Given the description of an element on the screen output the (x, y) to click on. 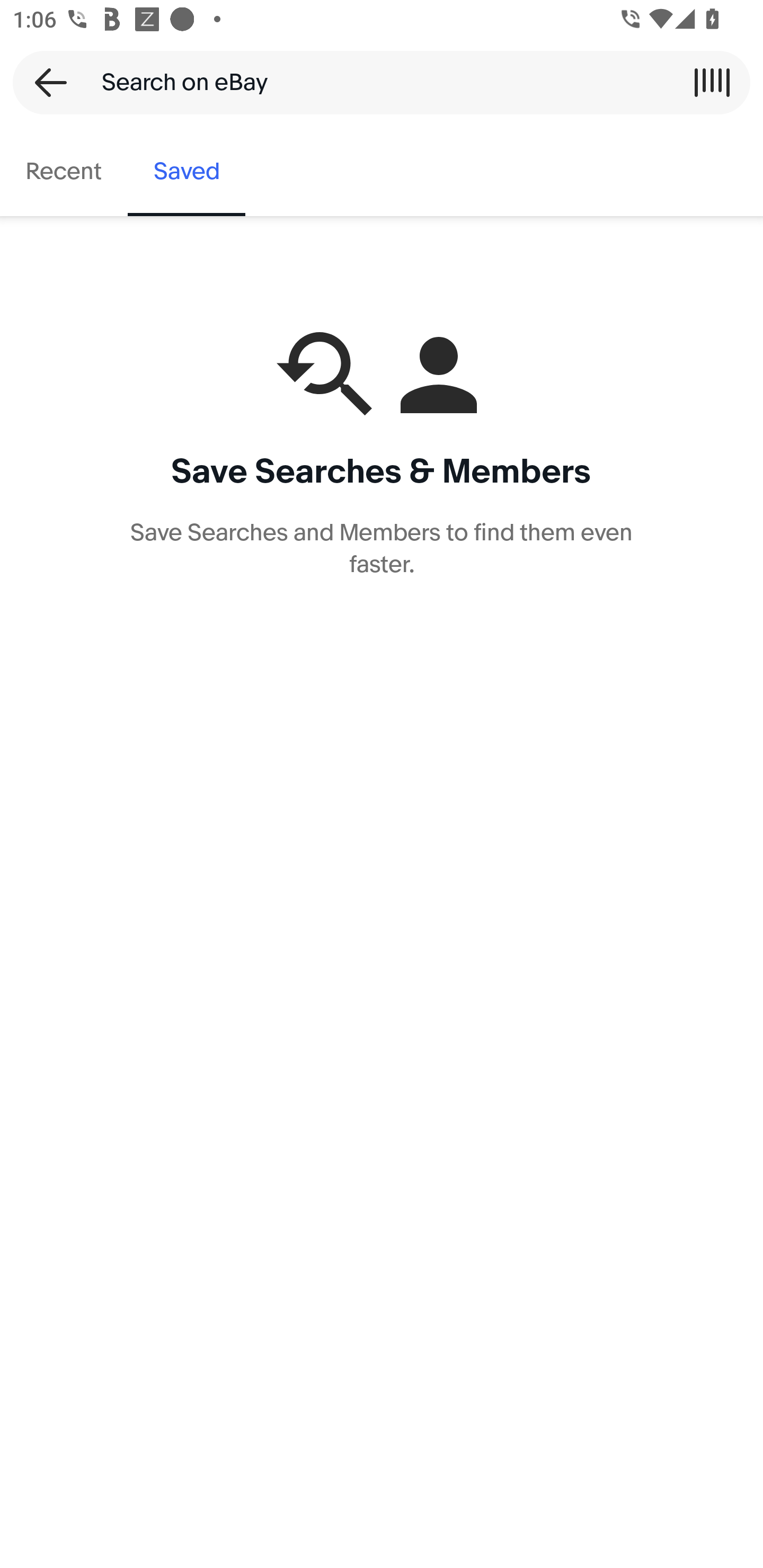
Back (44, 82)
Scan a barcode (711, 82)
Search on eBay (375, 82)
Recent, tab 1 of 2 Recent (63, 171)
